Given the description of an element on the screen output the (x, y) to click on. 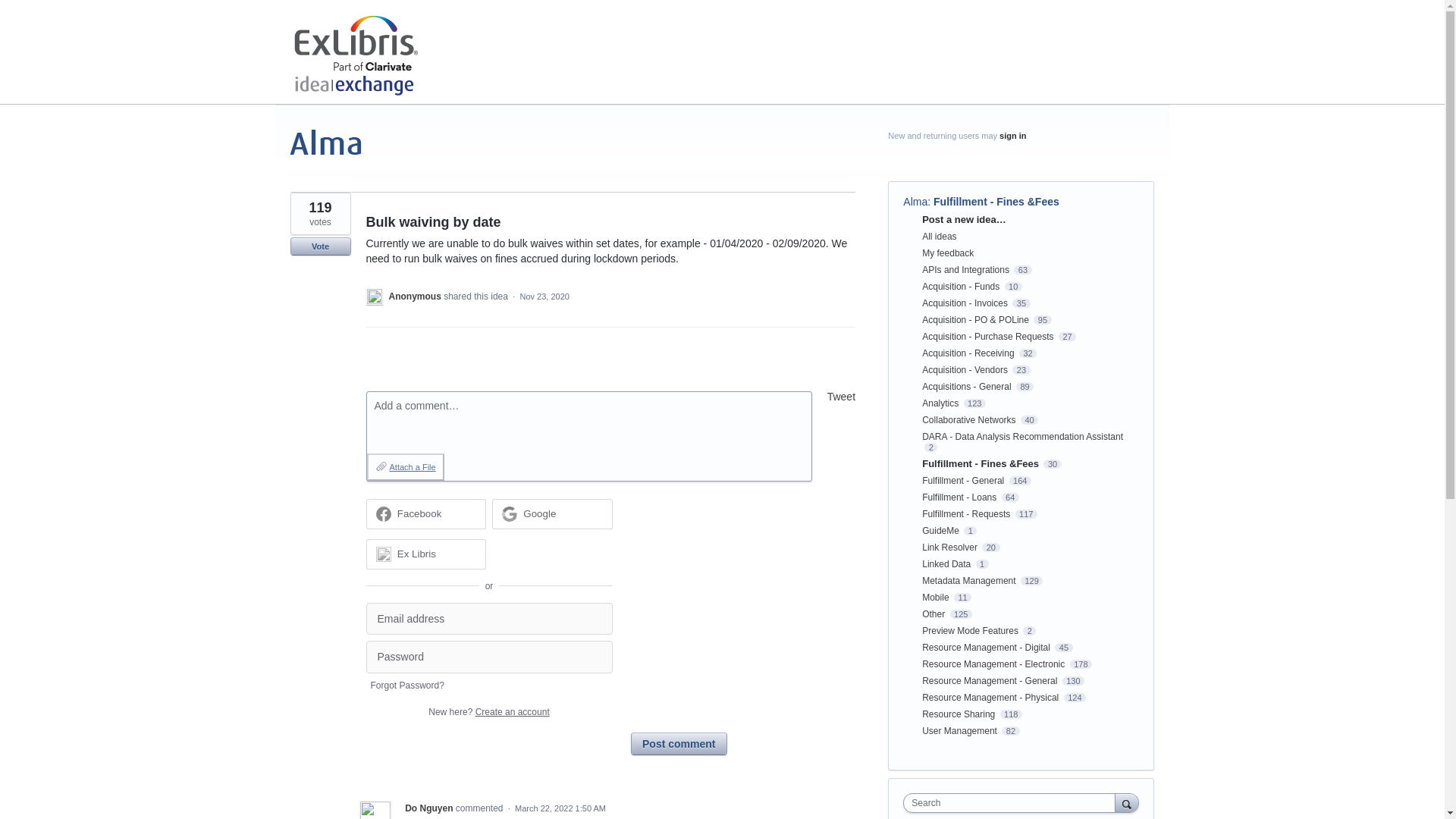
Ex Libris (425, 553)
Forgot Password? (406, 685)
Tweet (841, 396)
Google (552, 513)
Have an idea for Ex Libris? (365, 56)
Facebook (425, 513)
Anonymous (416, 296)
Facebook (419, 513)
Attach a File (405, 466)
Google sign in (552, 513)
Facebook sign in (425, 513)
Vote (319, 246)
